Given the description of an element on the screen output the (x, y) to click on. 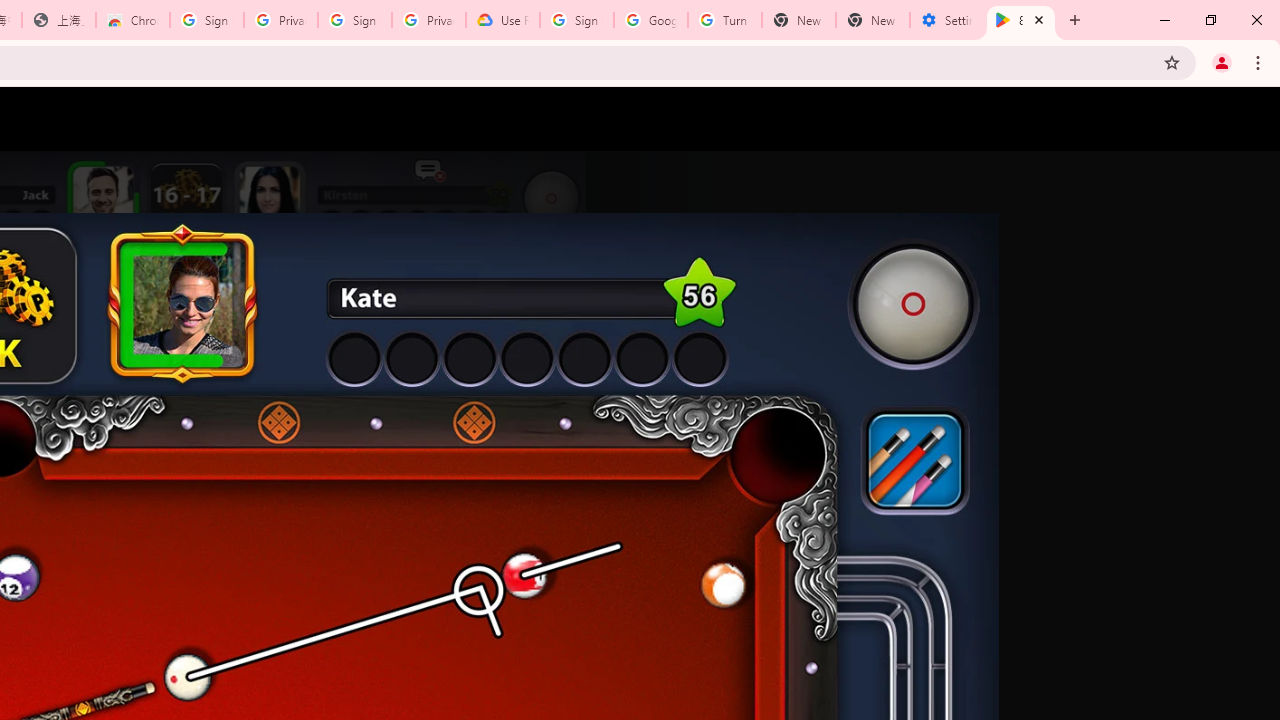
Sign in - Google Accounts (207, 20)
New Tab (872, 20)
8 Ball Pool - Apps on Google Play (1021, 20)
Turn cookies on or off - Computer - Google Account Help (724, 20)
Open account menu (1245, 119)
Settings - System (947, 20)
Google Account Help (651, 20)
Sign in - Google Accounts (577, 20)
Sign in - Google Accounts (354, 20)
